Given the description of an element on the screen output the (x, y) to click on. 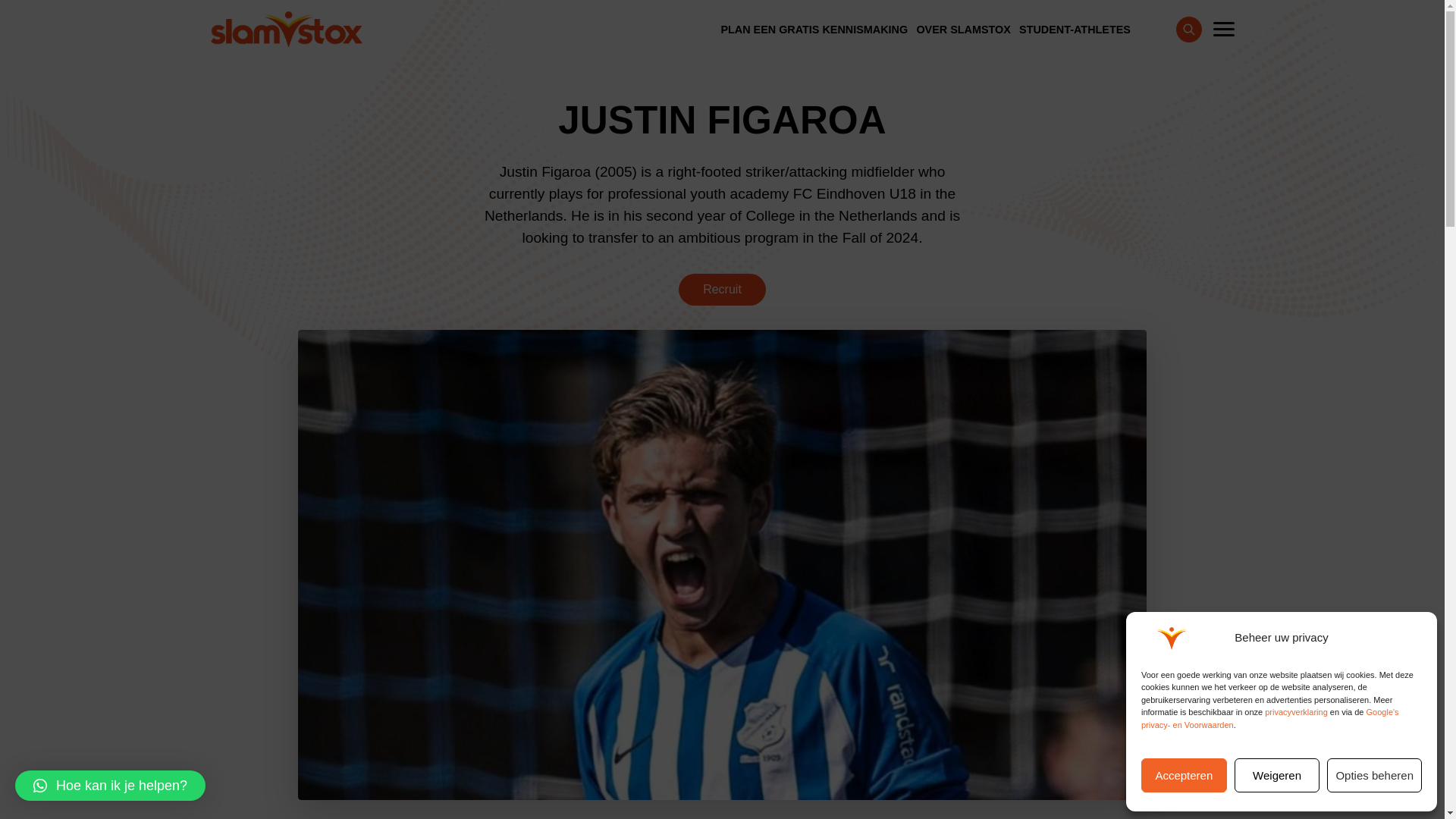
OVER SLAMSTOX (963, 30)
PLAN EEN GRATIS KENNISMAKING (814, 30)
privacyverklaring (1296, 711)
Opties beheren (1374, 775)
Weigeren (1277, 775)
Accepteren (1184, 775)
Google's privacy- en Voorwaarden (1270, 718)
STUDENT-ATHLETES (1074, 30)
